Given the description of an element on the screen output the (x, y) to click on. 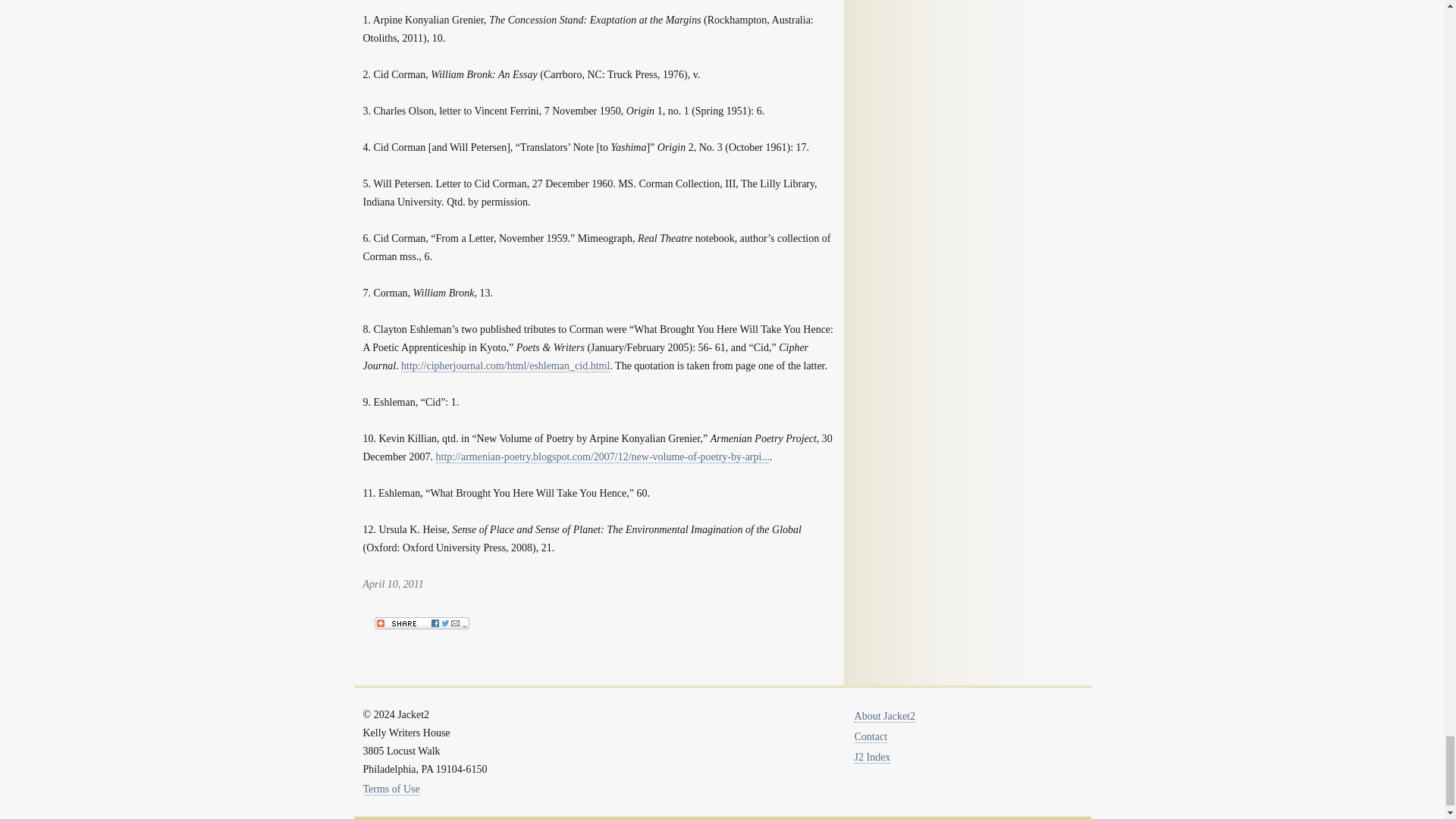
About us (884, 716)
Terms of Use (390, 788)
